Given the description of an element on the screen output the (x, y) to click on. 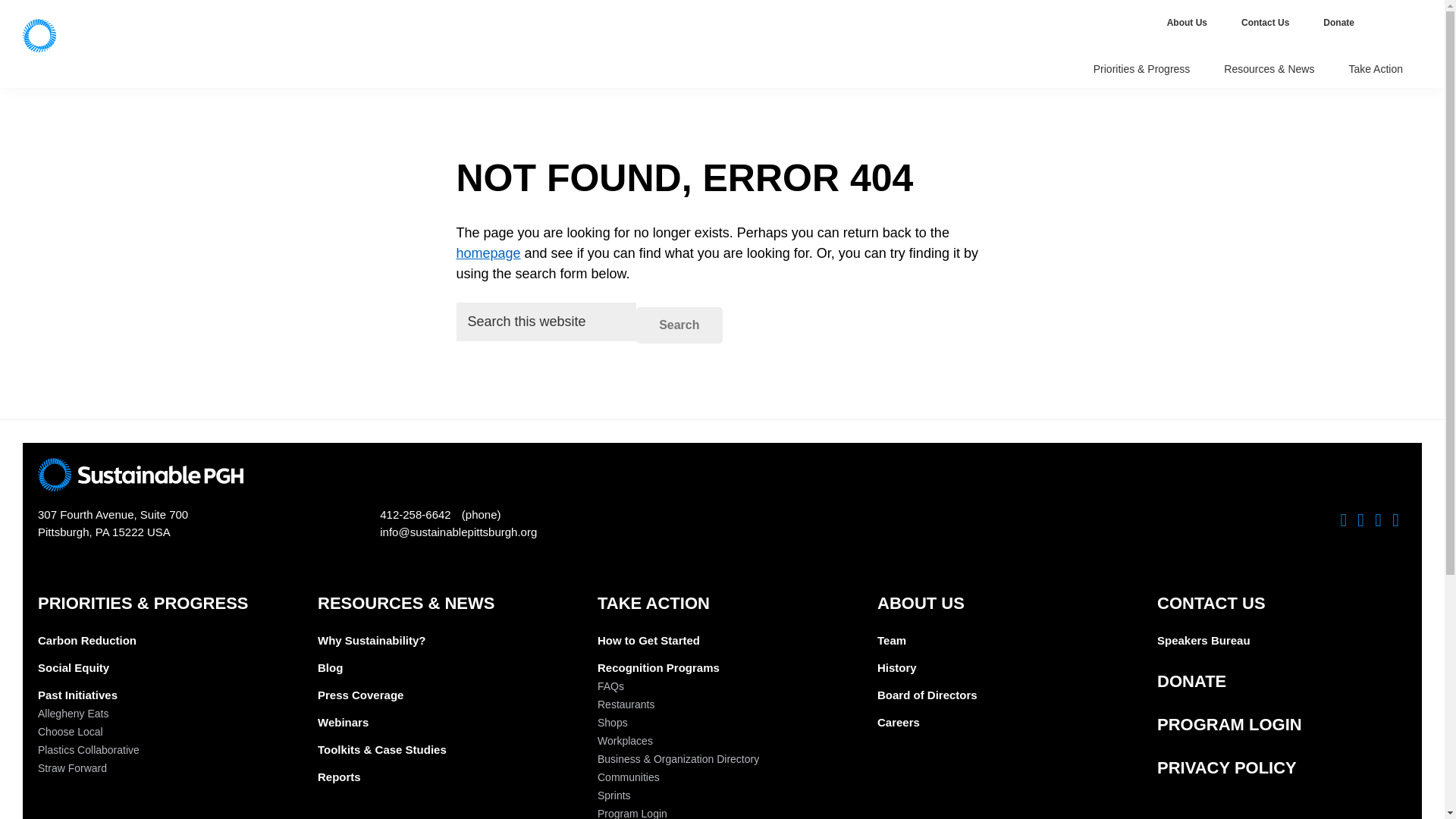
Donate (1340, 22)
Search (679, 325)
About Us (1188, 22)
Take Action (1377, 69)
Search (679, 325)
Contact Us (1266, 22)
